Given the description of an element on the screen output the (x, y) to click on. 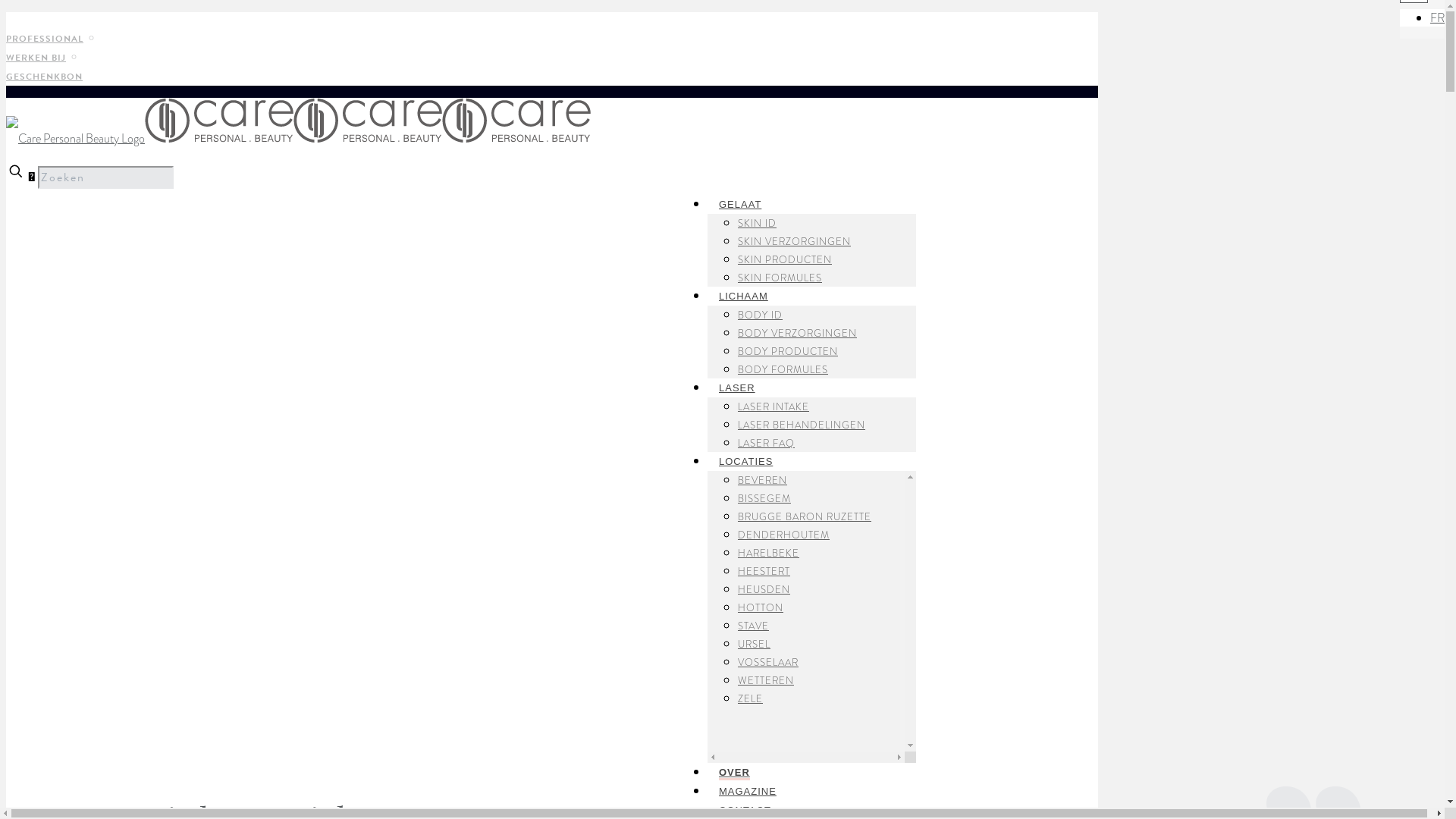
LASER INTAKE Element type: text (773, 406)
SKIN PRODUCTEN Element type: text (784, 259)
STAVE Element type: text (752, 625)
LICHAAM Element type: text (743, 292)
BRUGGE BARON RUZETTE Element type: text (804, 516)
ZELE Element type: text (749, 698)
BODY FORMULES Element type: text (782, 369)
SKIN FORMULES Element type: text (779, 277)
URSEL Element type: text (753, 644)
HEESTERT Element type: text (763, 571)
SKIN VERZORGINGEN Element type: text (793, 241)
MAGAZINE Element type: text (747, 787)
FR Element type: text (1437, 17)
LASER BEHANDELINGEN Element type: text (801, 424)
HARELBEKE Element type: text (768, 553)
GESCHENKBON Element type: text (44, 76)
SKIN ID Element type: text (756, 223)
Care Personal Beauty Element type: hover (298, 138)
LASER Element type: text (736, 383)
LOCATIES Element type: text (745, 457)
PROFESSIONAL Element type: text (50, 38)
WERKEN BIJ Element type: text (41, 57)
BODY ID Element type: text (759, 314)
DENDERHOUTEM Element type: text (783, 534)
VOSSELAAR Element type: text (767, 662)
BISSEGEM Element type: text (763, 498)
BODY VERZORGINGEN Element type: text (796, 333)
OVER Element type: text (734, 768)
WETTEREN Element type: text (765, 680)
BEVEREN Element type: text (762, 480)
HOTTON Element type: text (760, 607)
GELAAT Element type: text (739, 200)
BODY PRODUCTEN Element type: text (787, 351)
LASER FAQ Element type: text (765, 443)
HEUSDEN Element type: text (763, 589)
